Given the description of an element on the screen output the (x, y) to click on. 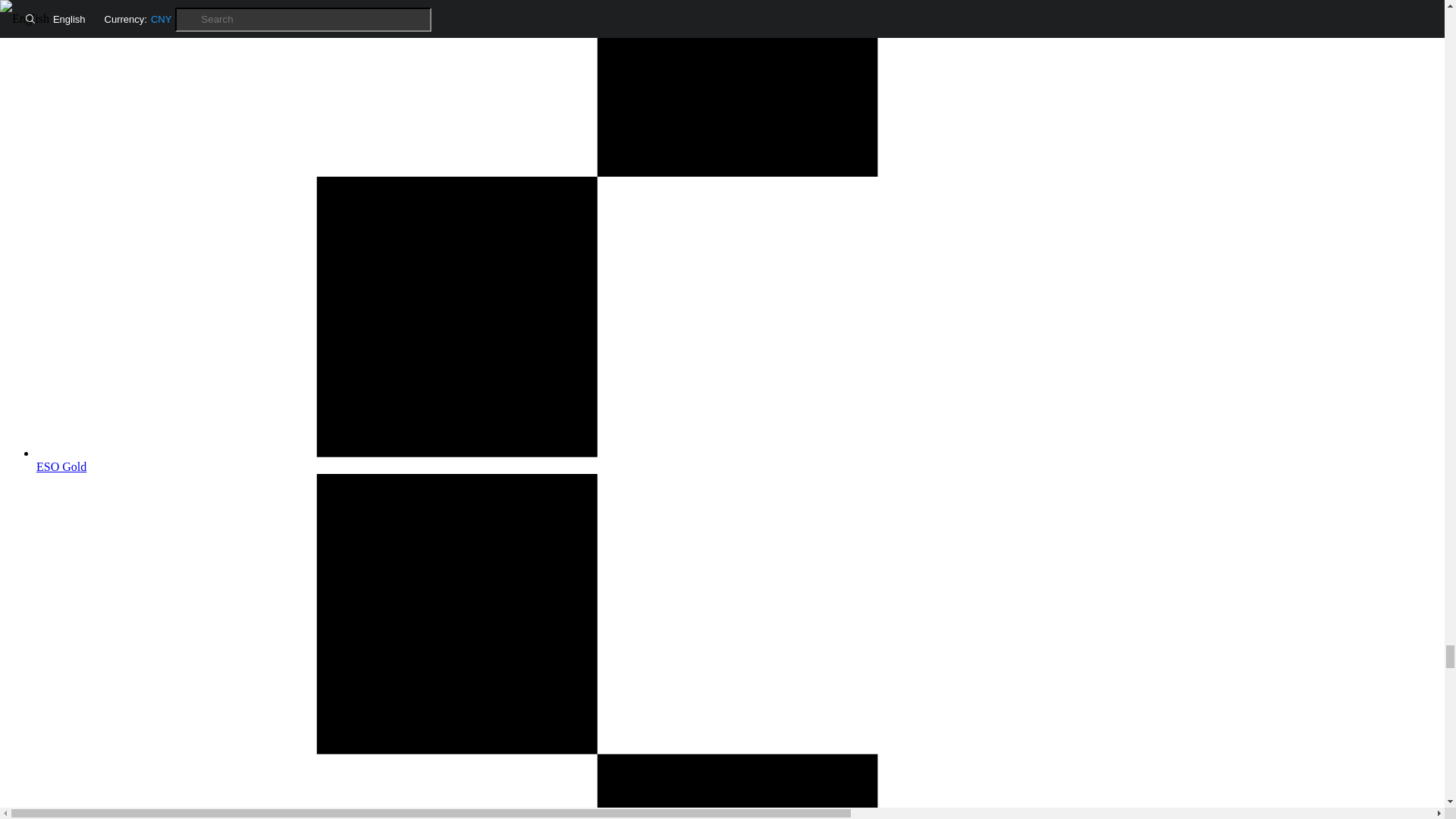
ESO Gold (737, 459)
